Given the description of an element on the screen output the (x, y) to click on. 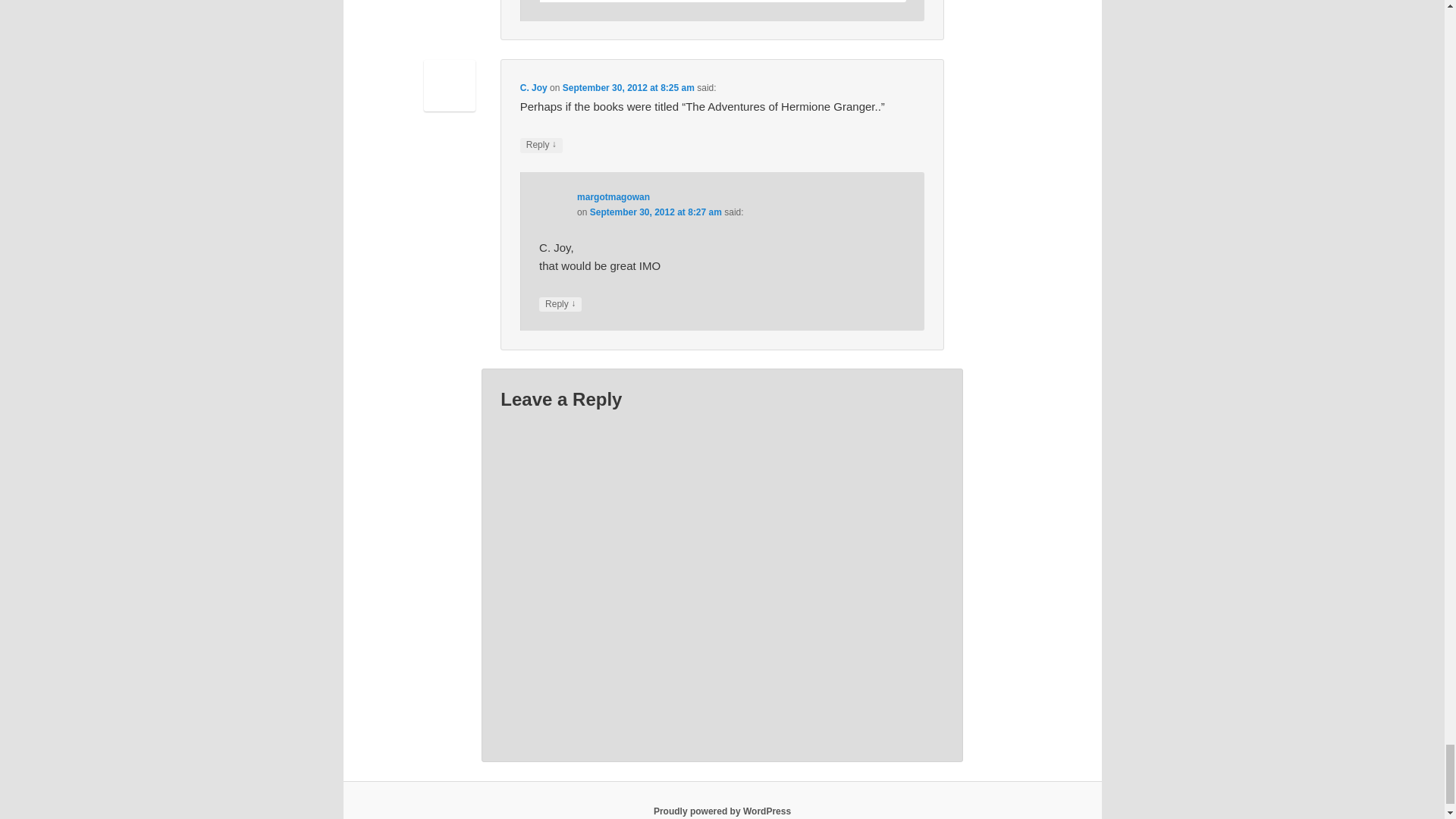
Semantic Personal Publishing Platform (721, 810)
